Given the description of an element on the screen output the (x, y) to click on. 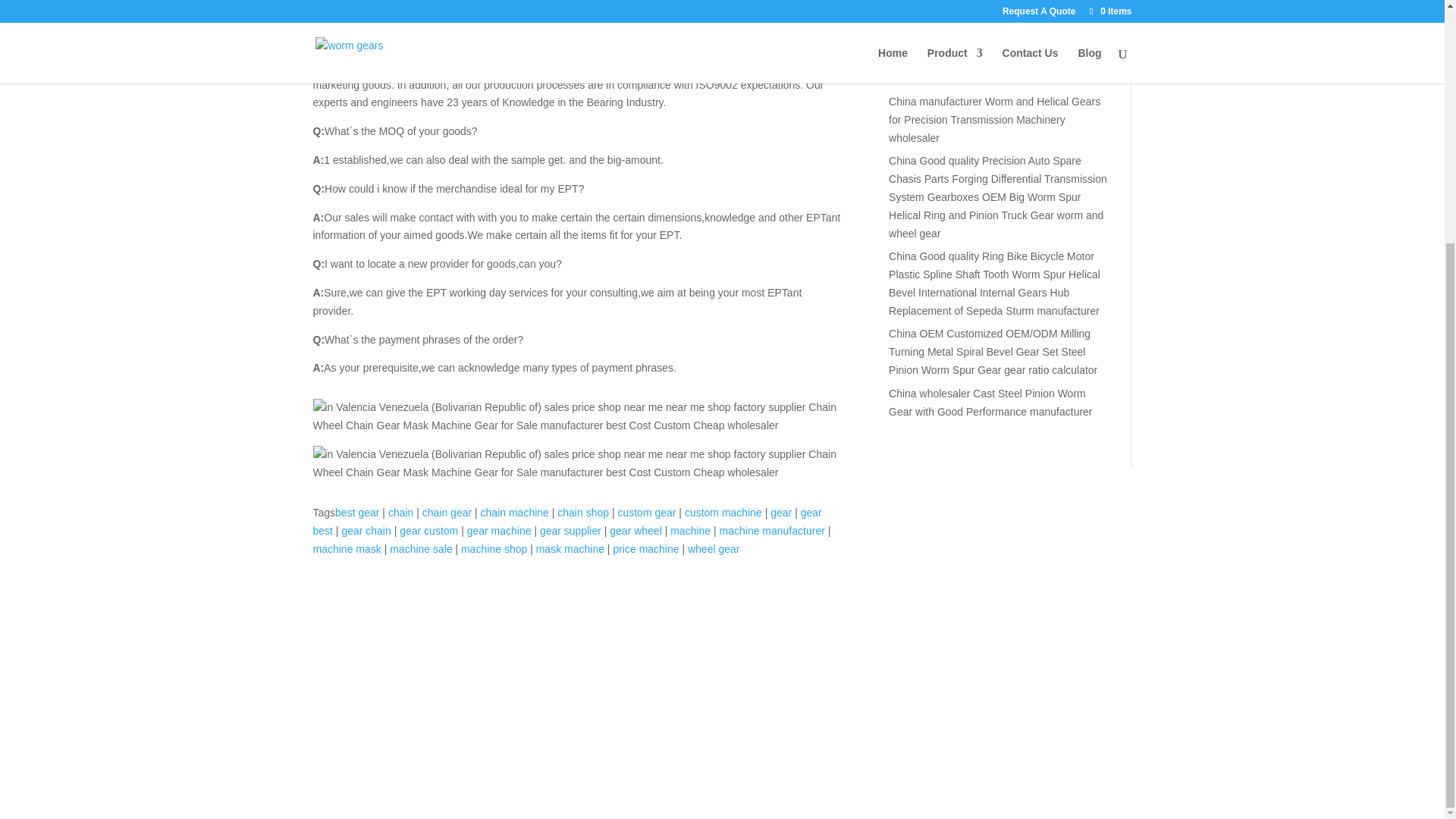
chain machine (514, 512)
mask machine (569, 548)
chain (400, 512)
machine shop (494, 548)
machine (689, 530)
custom gear (646, 512)
gear supplier (570, 530)
gear machine (499, 530)
gear chain (365, 530)
Search (1081, 15)
machine mask (346, 548)
gear best (567, 521)
gear custom (428, 530)
chain gear (446, 512)
